Given the description of an element on the screen output the (x, y) to click on. 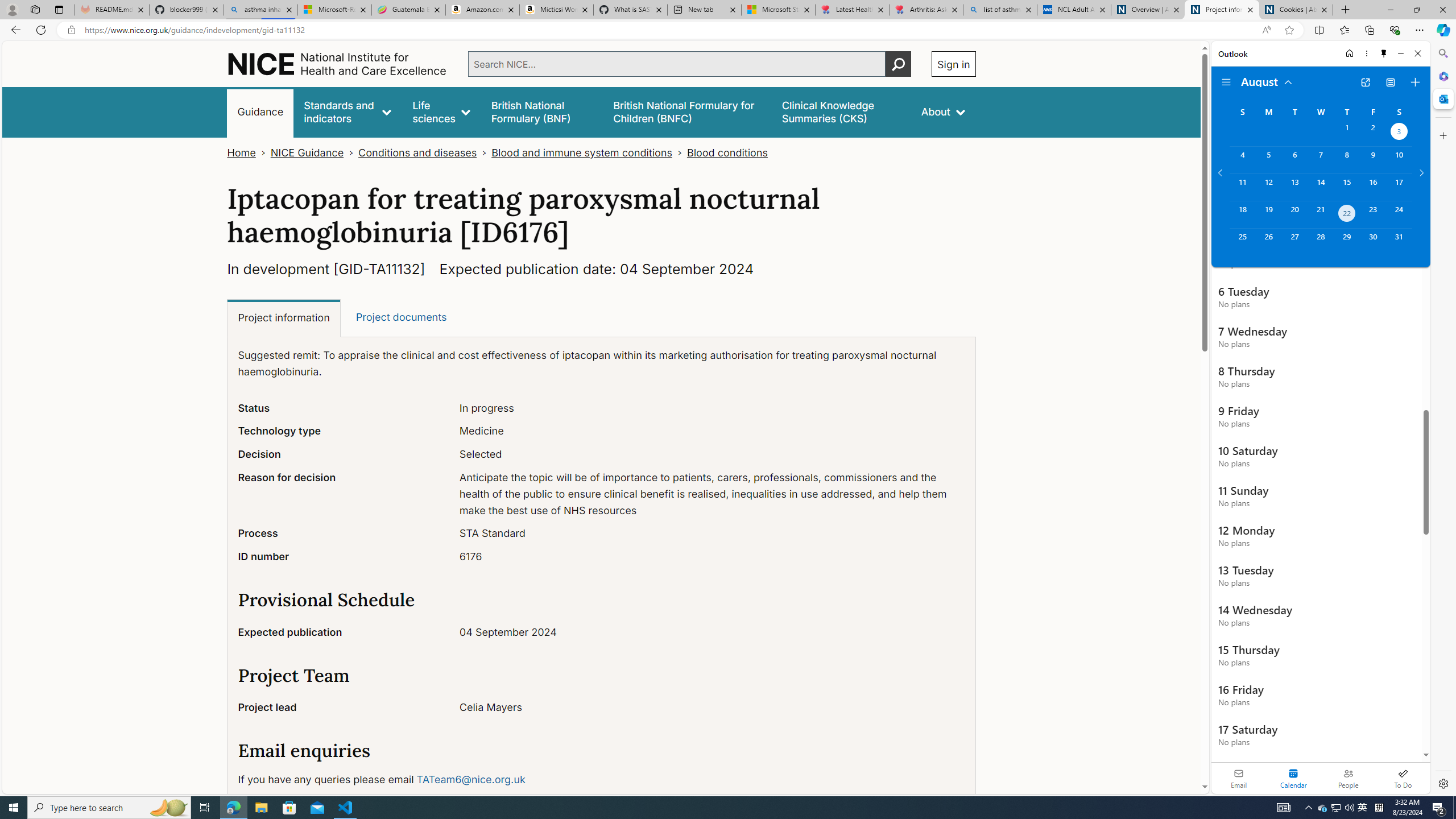
Create event (1414, 82)
Open in new tab (1365, 82)
Blood conditions (726, 152)
Conditions and diseases (417, 152)
British National Formulary for Children (BNFC) (686, 111)
Close (1417, 53)
Saturday, August 10, 2024.  (1399, 159)
Microsoft Start (777, 9)
Favorites (1344, 29)
Blood and immune system conditions (582, 152)
App bar (728, 29)
TATeam6@nice.org.uk (470, 779)
Search (1442, 53)
